Given the description of an element on the screen output the (x, y) to click on. 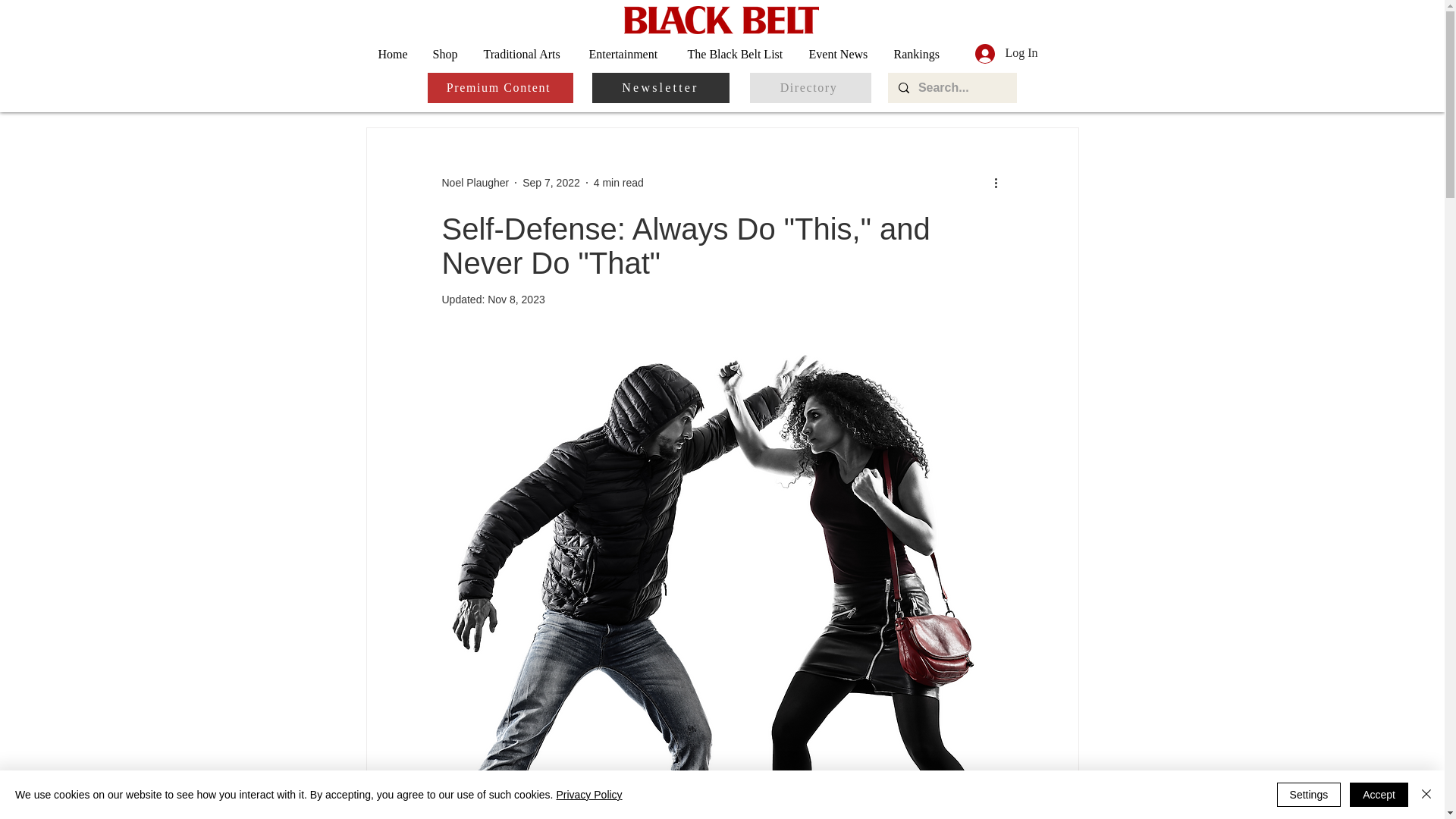
Nov 8, 2023 (515, 299)
Premium Content (500, 87)
Directory (809, 87)
Rankings (918, 52)
Entertainment (627, 52)
Noel Plaugher (474, 182)
Home (394, 52)
Event News (839, 52)
Sep 7, 2022 (550, 182)
Noel Plaugher (474, 182)
The Black Belt List (737, 52)
4 min read (618, 182)
Newsletter (660, 87)
Traditional Arts (523, 52)
Log In (1005, 53)
